Given the description of an element on the screen output the (x, y) to click on. 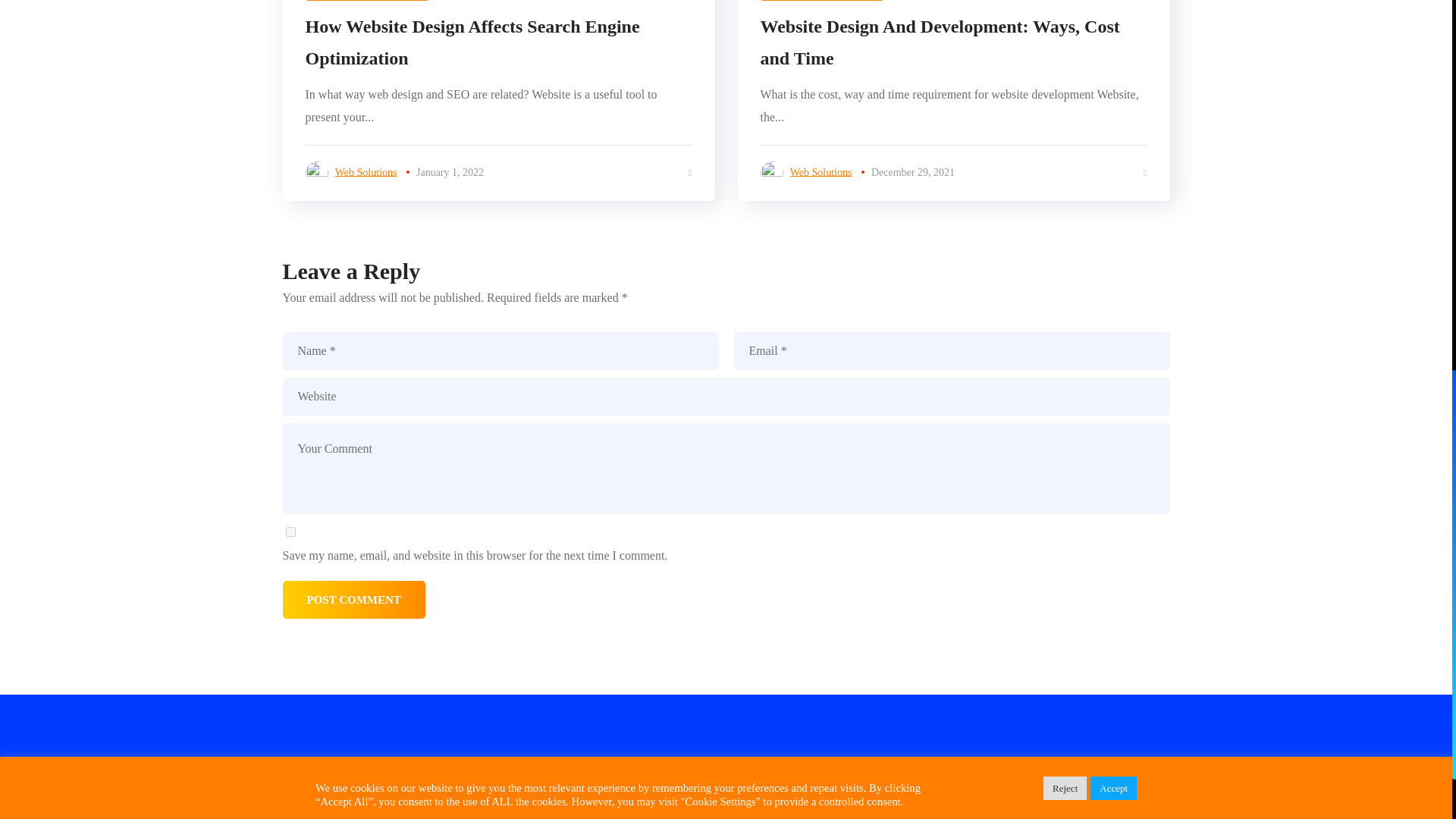
Website (725, 396)
yes (290, 532)
Post Comment (353, 599)
